Given the description of an element on the screen output the (x, y) to click on. 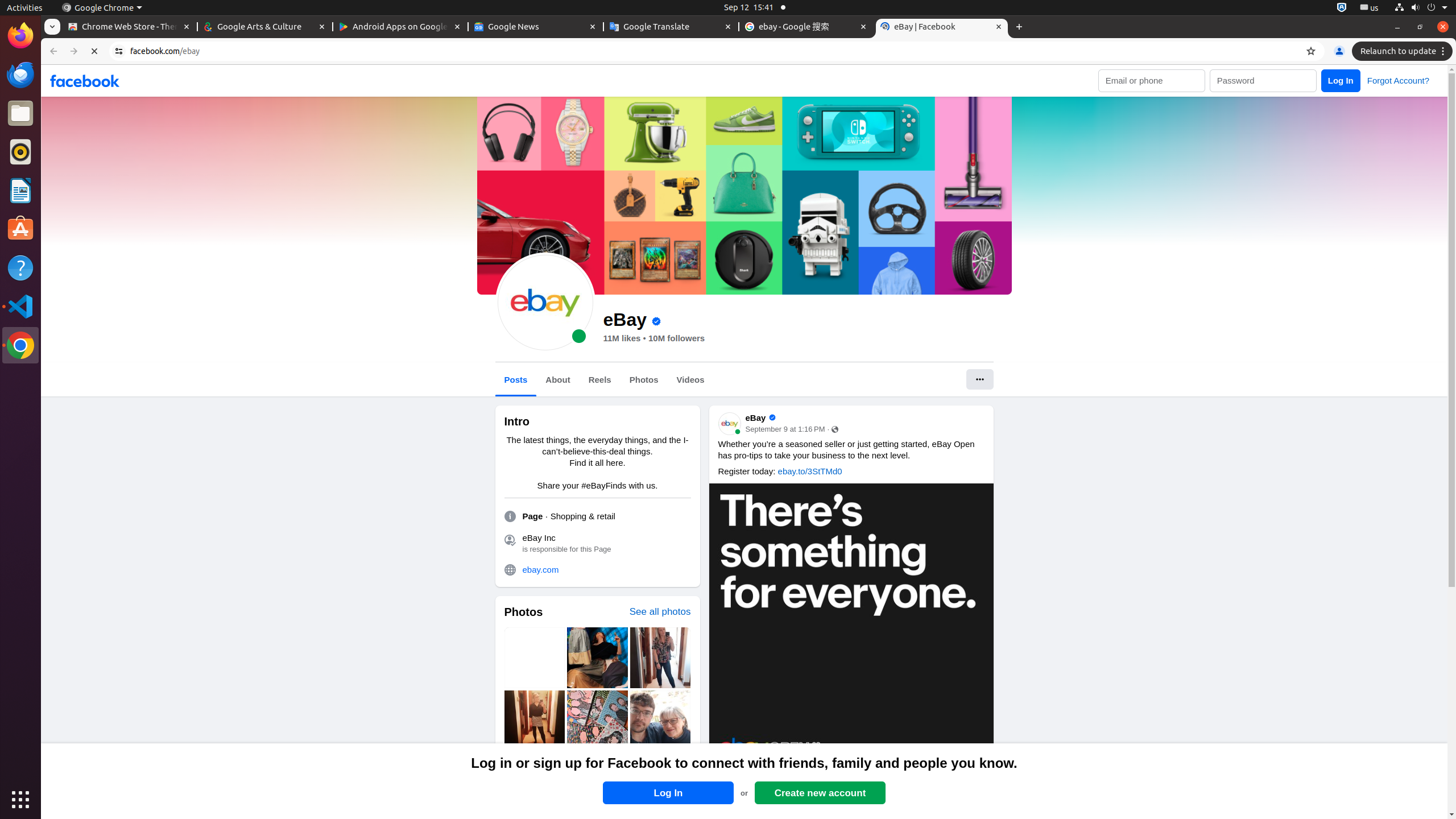
Google News - Memory usage - 49.7 MB Element type: page-tab (535, 26)
:1.72/StatusNotifierItem Element type: menu (1341, 7)
New Tab Element type: push-button (1019, 26)
Files Element type: push-button (20, 113)
Photos Element type: link (523, 611)
